Given the description of an element on the screen output the (x, y) to click on. 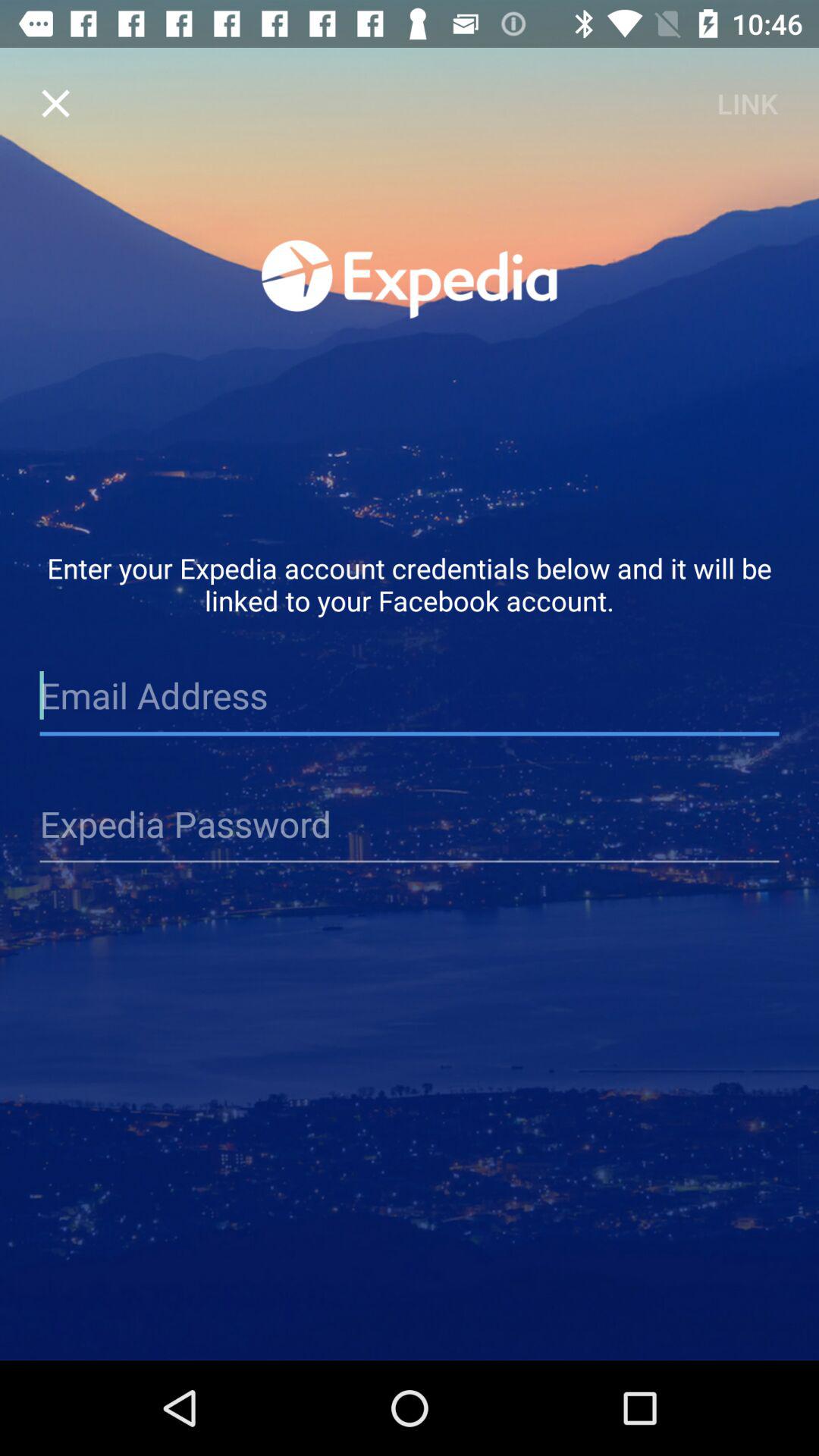
select item above the enter your expedia (55, 103)
